Given the description of an element on the screen output the (x, y) to click on. 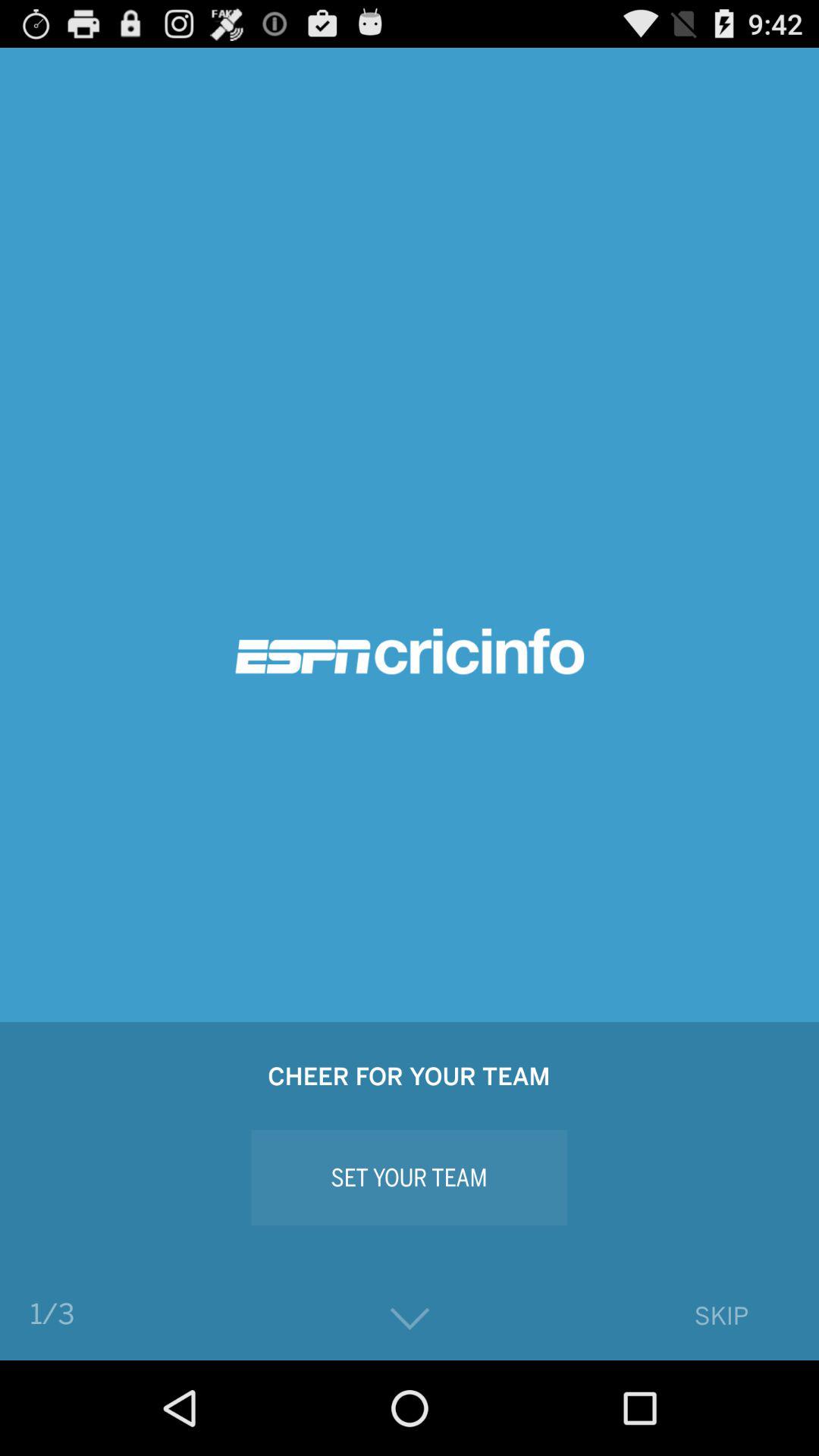
click the icon to the right of the 1/3 app (409, 1319)
